Given the description of an element on the screen output the (x, y) to click on. 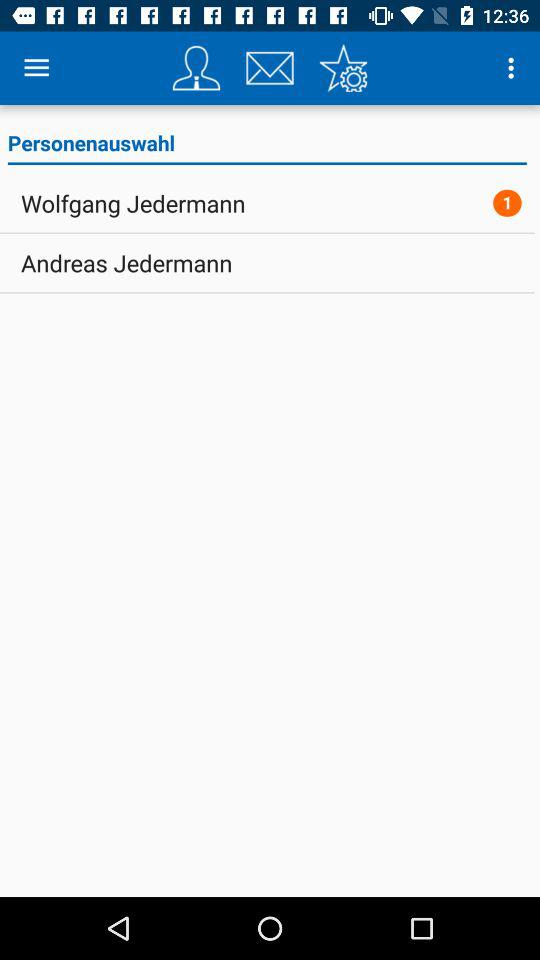
flip until the  1  item (507, 202)
